Given the description of an element on the screen output the (x, y) to click on. 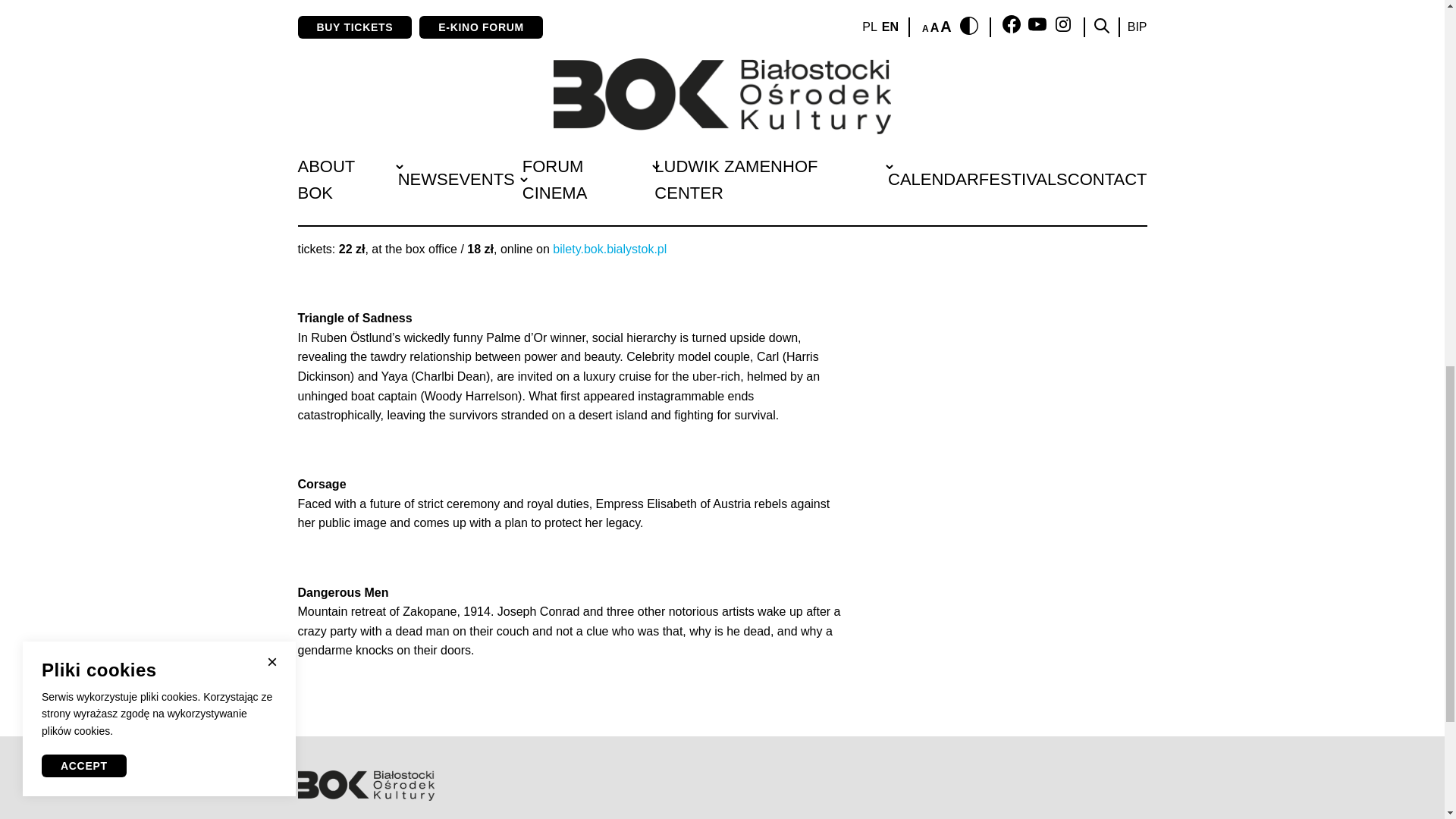
bilety.bok.bialystok.pl (608, 248)
BUY TICKETS (1023, 28)
